Given the description of an element on the screen output the (x, y) to click on. 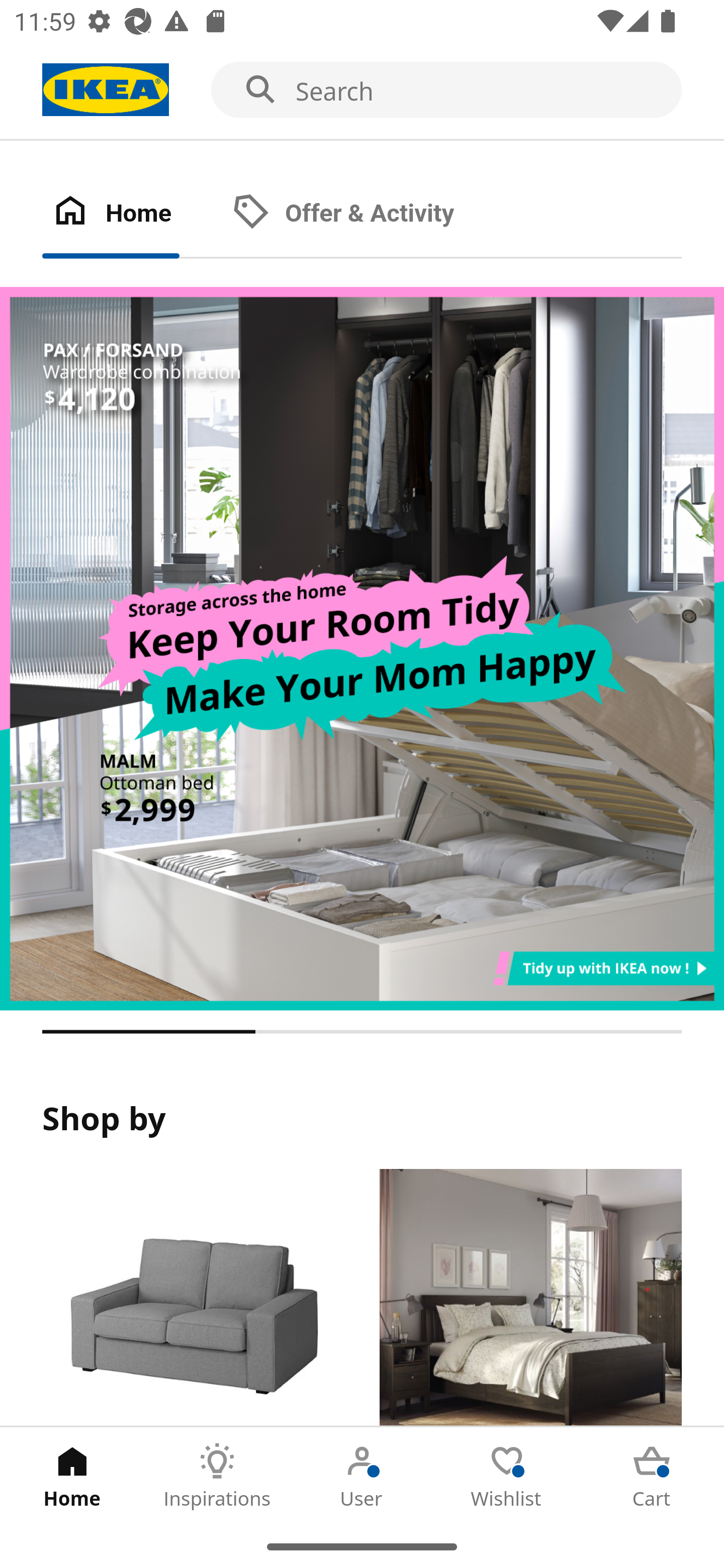
Search (361, 90)
Home
Tab 1 of 2 (131, 213)
Offer & Activity
Tab 2 of 2 (363, 213)
Products (192, 1297)
Rooms (530, 1297)
Home
Tab 1 of 5 (72, 1476)
Inspirations
Tab 2 of 5 (216, 1476)
User
Tab 3 of 5 (361, 1476)
Wishlist
Tab 4 of 5 (506, 1476)
Cart
Tab 5 of 5 (651, 1476)
